Given the description of an element on the screen output the (x, y) to click on. 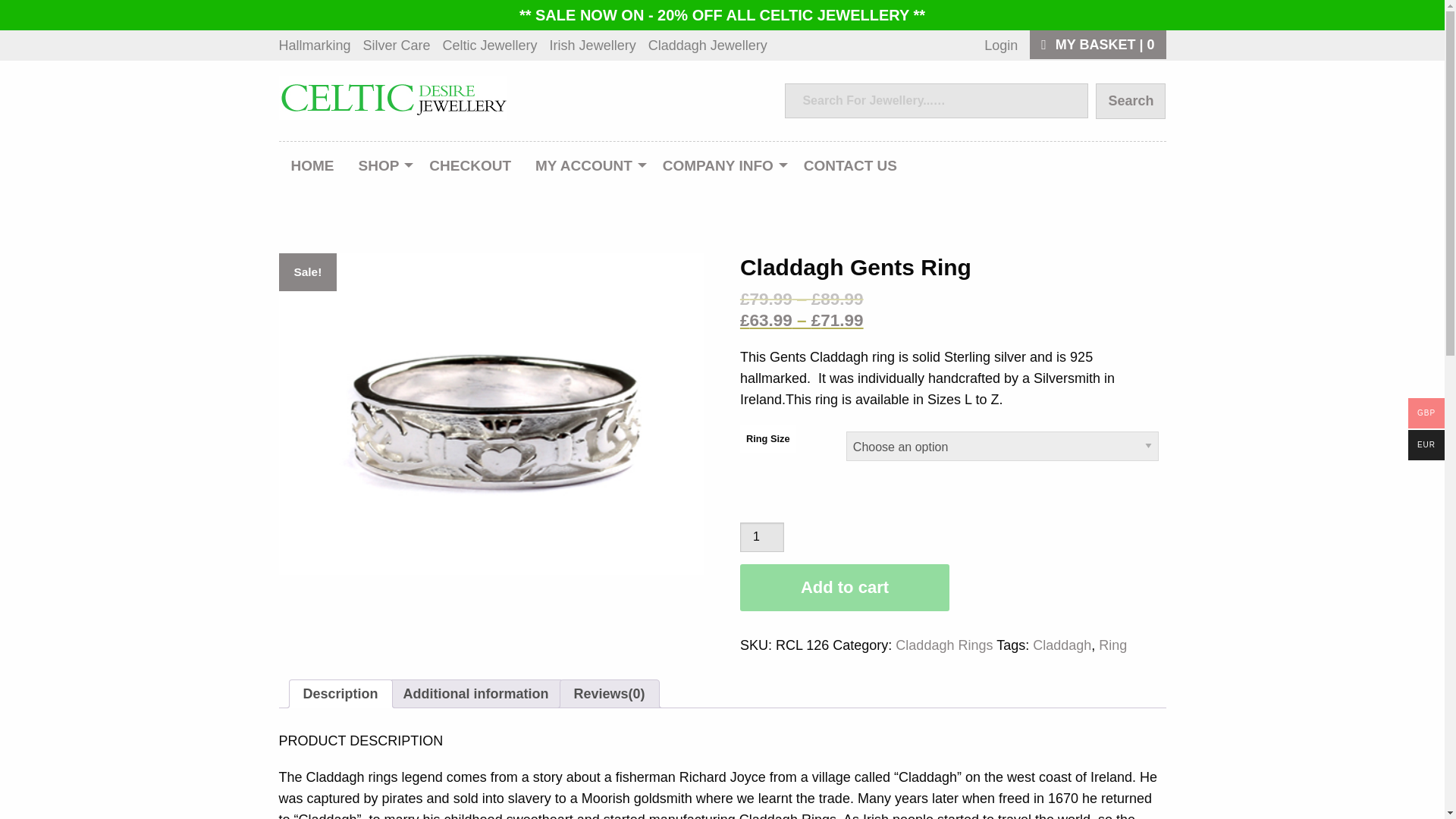
Search (1131, 100)
1 (761, 537)
Search for: (935, 100)
